Given the description of an element on the screen output the (x, y) to click on. 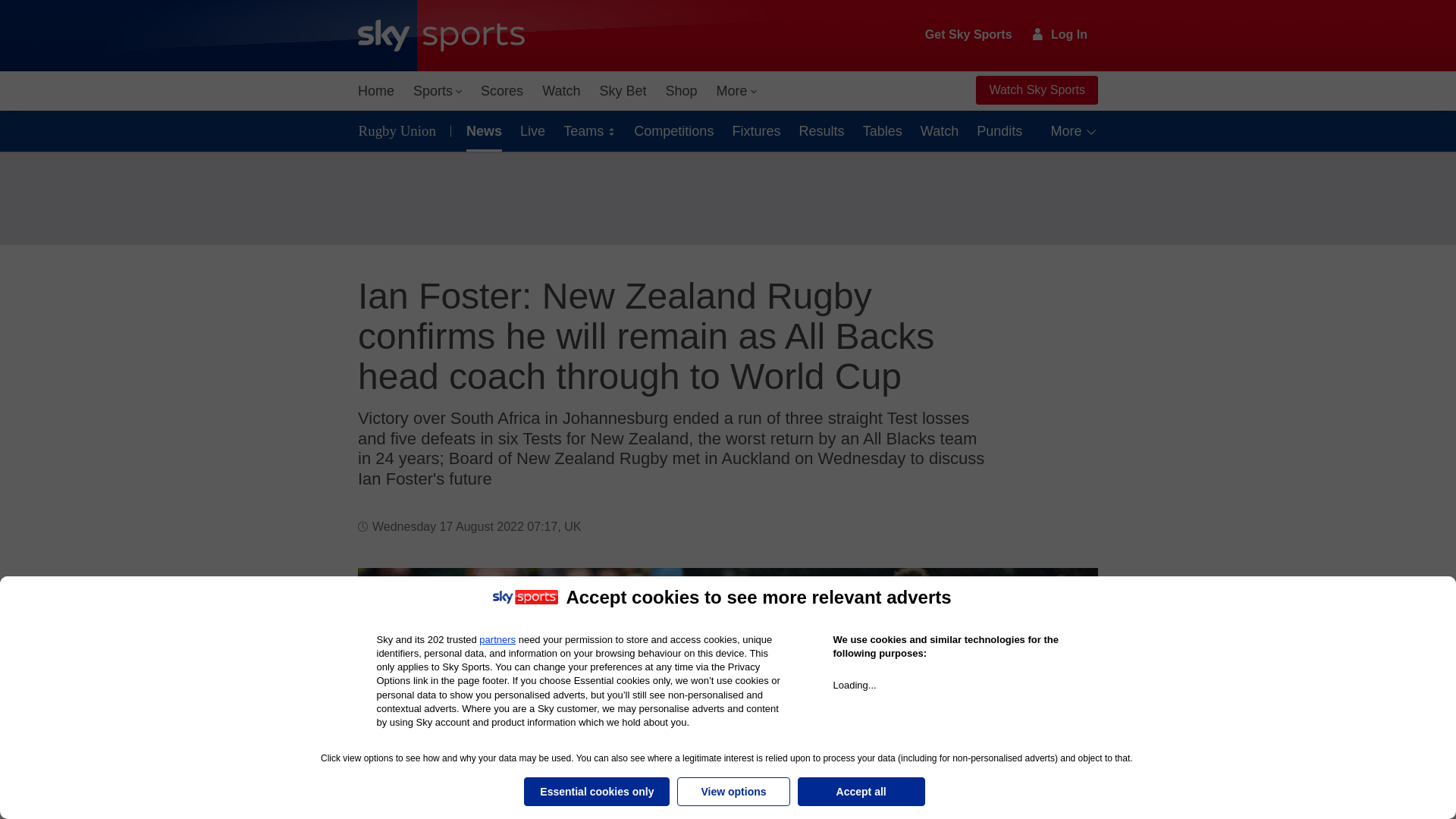
Get Sky Sports (968, 34)
More (736, 91)
News (481, 130)
Rugby Union (400, 130)
Watch (561, 91)
Sports (437, 91)
Watch Sky Sports (1036, 90)
Sky Bet (622, 91)
Scores (502, 91)
Log In (1060, 33)
Shop (681, 91)
Home (375, 91)
